Given the description of an element on the screen output the (x, y) to click on. 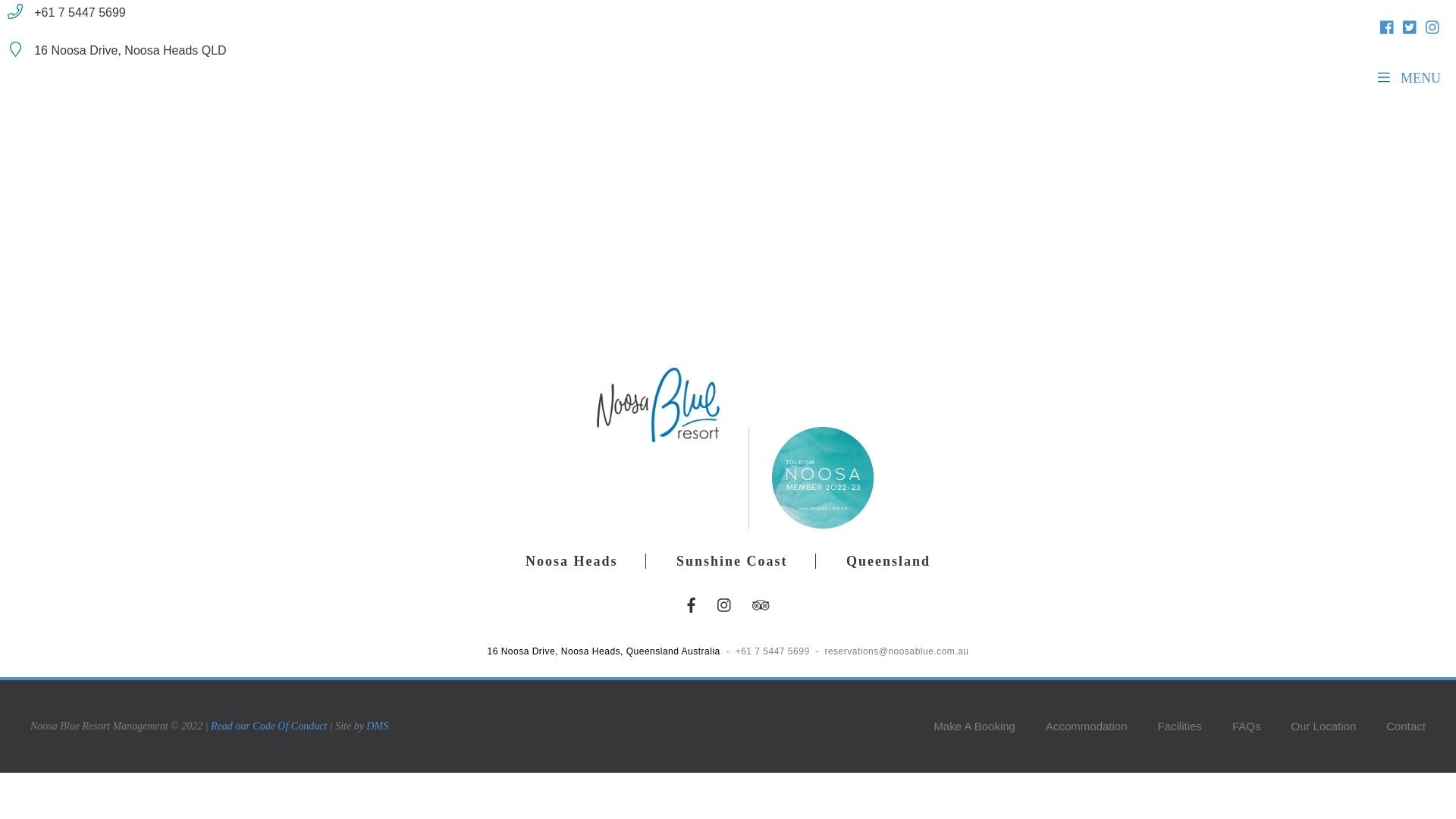
Read our Code Of Conduct Element type: text (268, 725)
+61 7 5447 5699 Element type: text (138, 12)
Accommodation Element type: text (1086, 725)
Contact Element type: text (1398, 725)
Queensland Element type: text (888, 560)
FAQs Element type: text (1246, 725)
16 Noosa Drive, Noosa Heads QLD Element type: text (138, 50)
Facilities Element type: text (1179, 725)
 -  +61 7 5447 5699 Element type: text (766, 651)
Our Location Element type: text (1323, 725)
 -  reservations@noosablue.com.au Element type: text (889, 651)
DMS Element type: text (377, 725)
Sunshine Coast Element type: text (732, 560)
Noosa Heads Element type: text (572, 560)
Make A Booking Element type: text (974, 725)
